Given the description of an element on the screen output the (x, y) to click on. 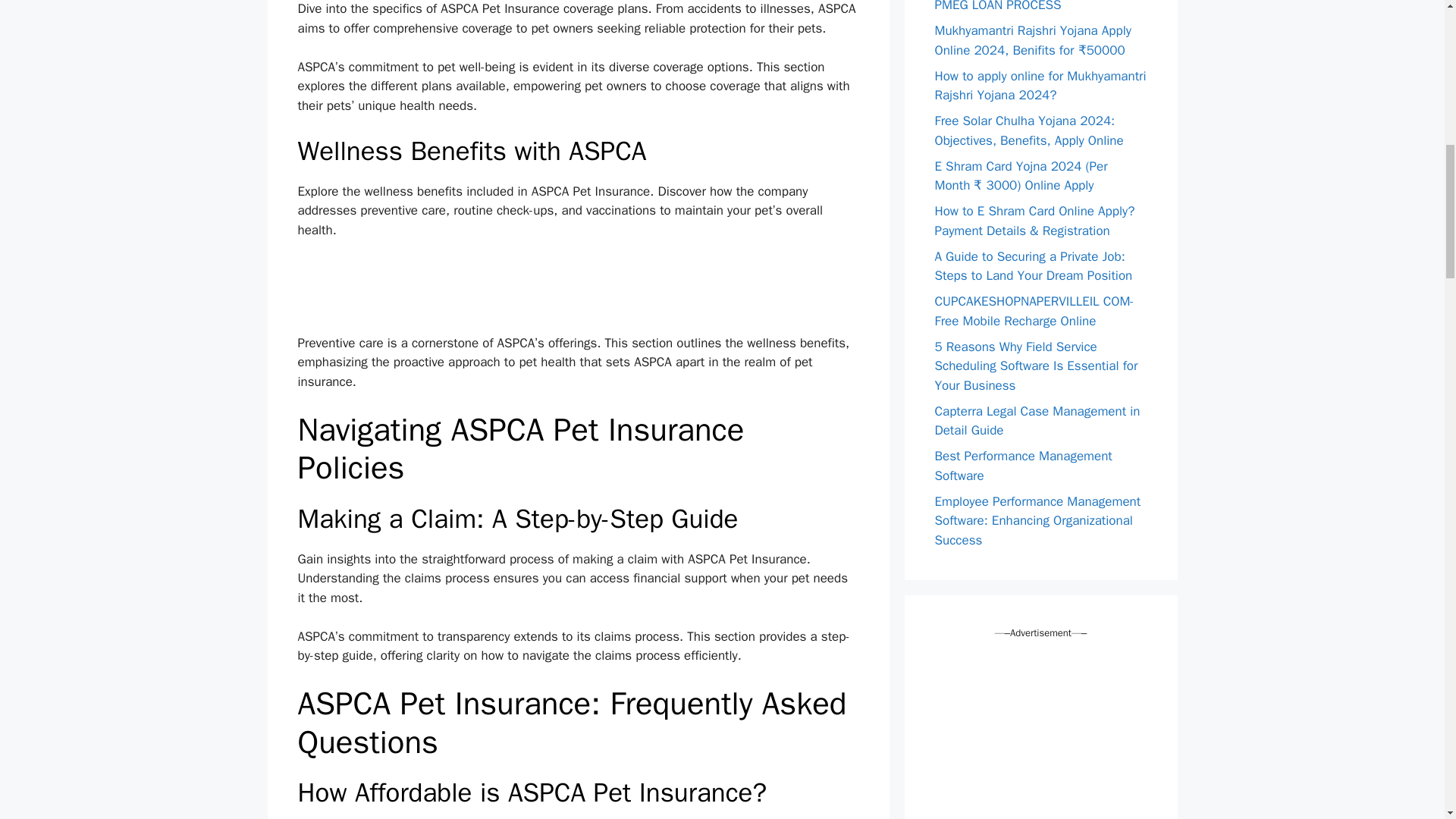
CUPCAKESHOPNAPERVILLEIL COM- Free Mobile Recharge Online (1034, 311)
How to apply online for Mukhyamantri Rajshri Yojana 2024? (1039, 85)
Capterra Legal Case Management in Detail Guide (1037, 420)
Best Performance Management Software (1023, 465)
Scroll back to top (1406, 720)
